Given the description of an element on the screen output the (x, y) to click on. 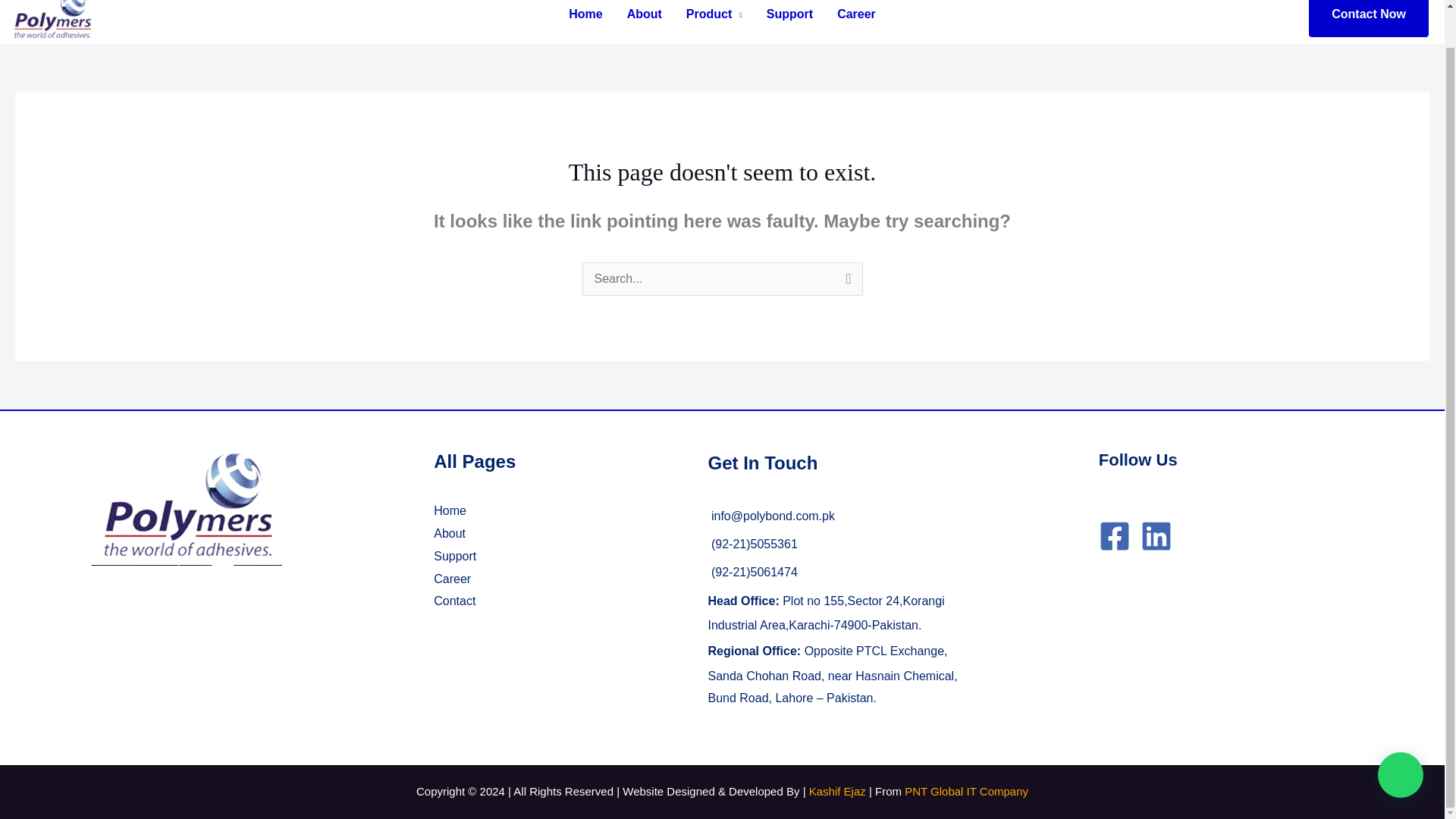
Home (449, 510)
Contact Now (1368, 18)
Career (856, 14)
About (449, 533)
Support (454, 555)
Support (789, 14)
Home (585, 14)
Product (714, 14)
About (644, 14)
